Given the description of an element on the screen output the (x, y) to click on. 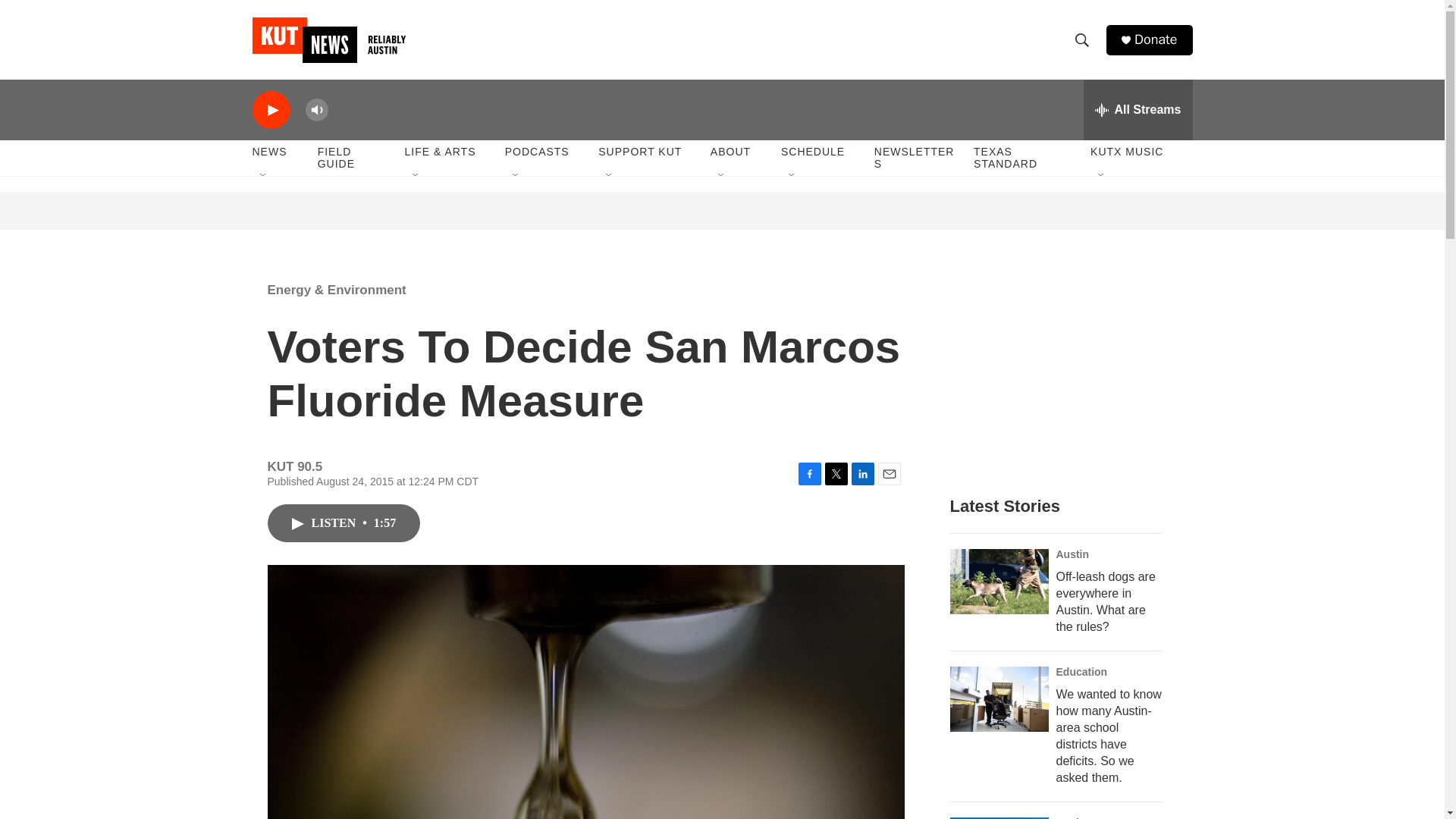
3rd party ad content (722, 210)
3rd party ad content (1062, 370)
